Given the description of an element on the screen output the (x, y) to click on. 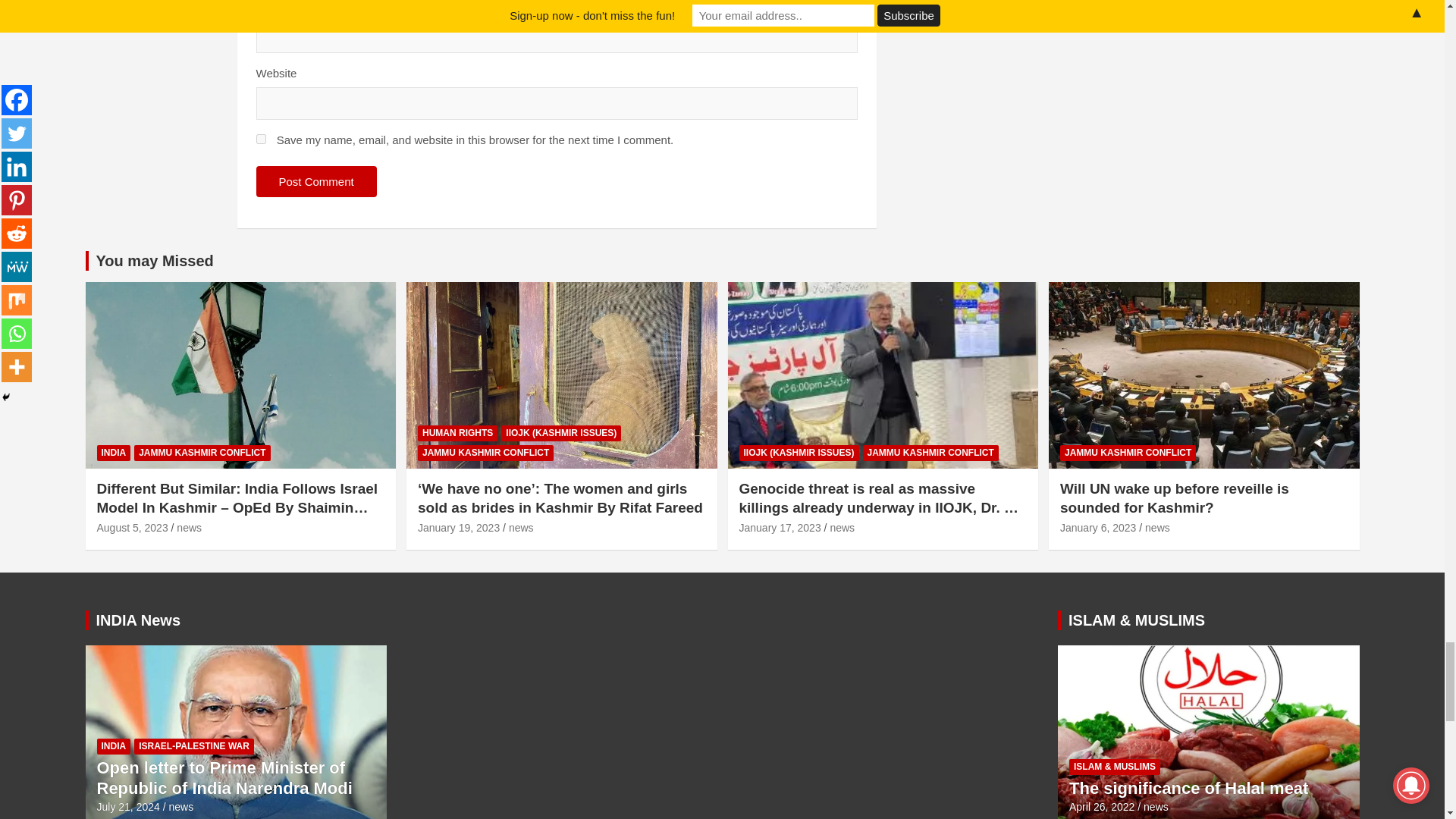
yes (261, 139)
Post Comment (316, 181)
